Given the description of an element on the screen output the (x, y) to click on. 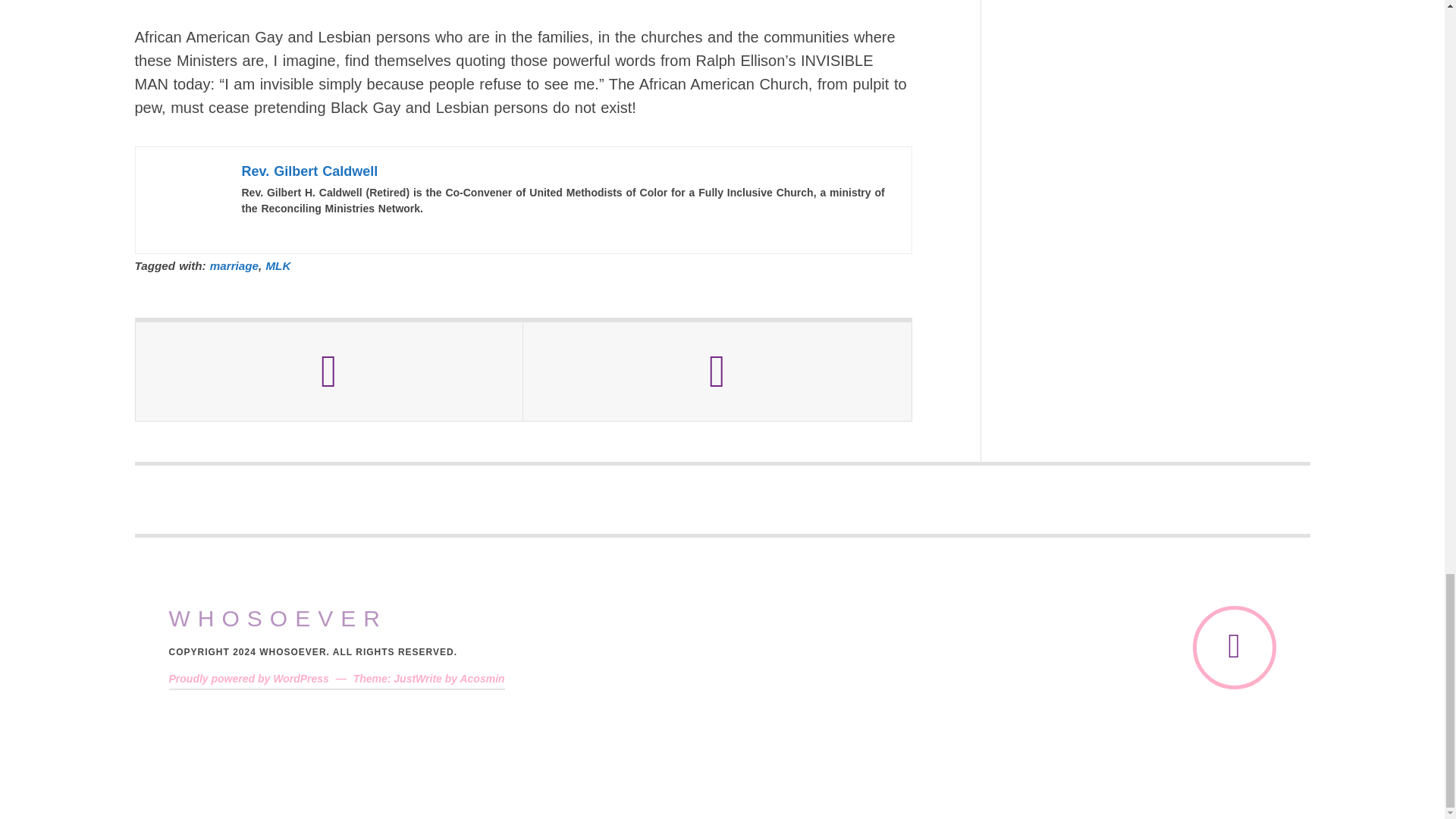
What Would Martin Do? 1 (187, 200)
Whosoever (277, 618)
Proudly powered by WordPress (248, 678)
WHOSOEVER (277, 618)
Previous Post (328, 371)
MLK (276, 265)
marriage (234, 265)
Next Post (716, 371)
Acosmin (481, 678)
Acosmin (481, 678)
Rev. Gilbert Caldwell (309, 171)
